Given the description of an element on the screen output the (x, y) to click on. 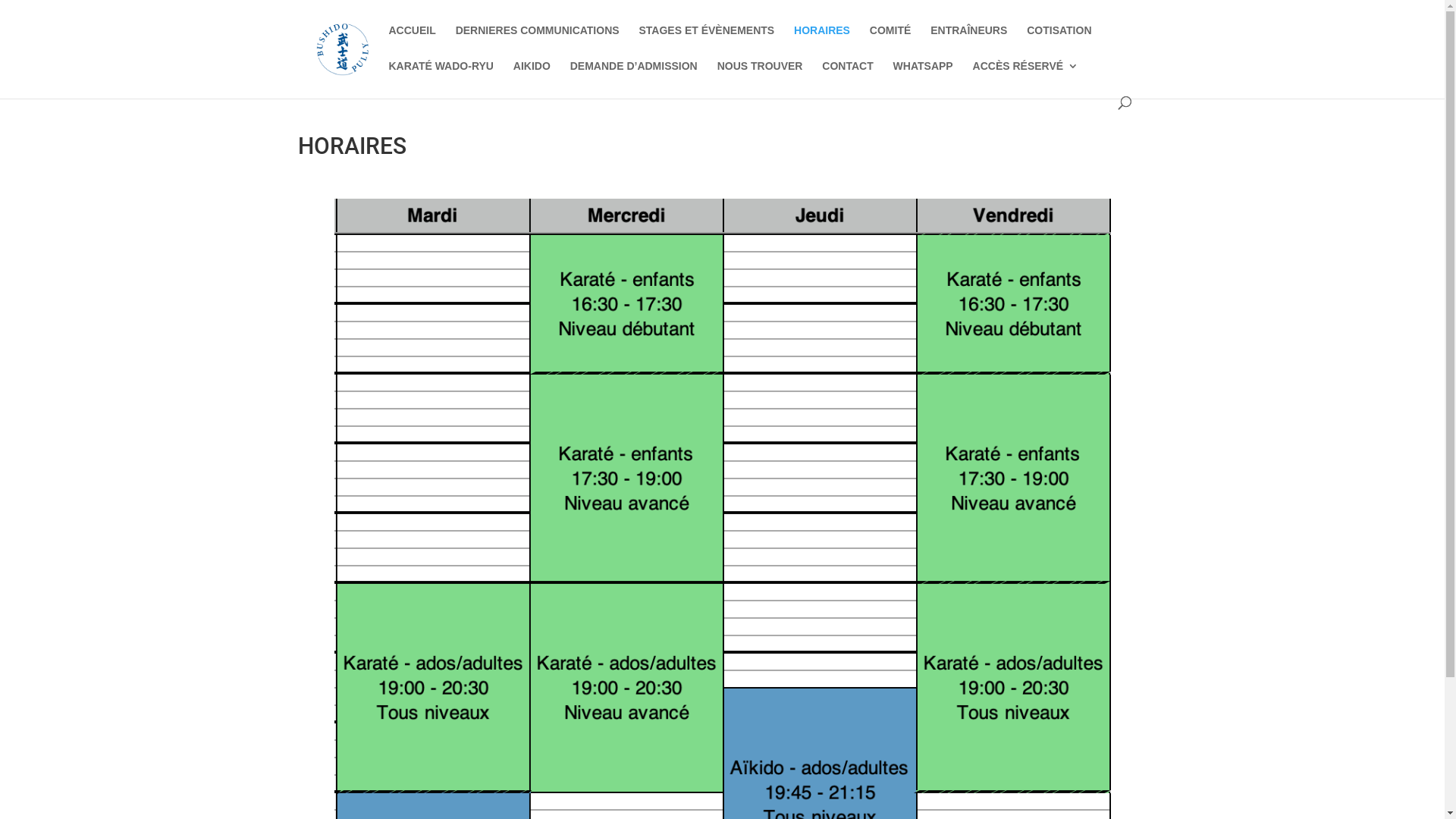
HORAIRES Element type: text (821, 42)
WHATSAPP Element type: text (923, 78)
ACCUEIL Element type: text (411, 42)
CONTACT Element type: text (847, 78)
COTISATION Element type: text (1058, 42)
AIKIDO Element type: text (531, 78)
DERNIERES COMMUNICATIONS Element type: text (537, 42)
NOUS TROUVER Element type: text (760, 78)
